Given the description of an element on the screen output the (x, y) to click on. 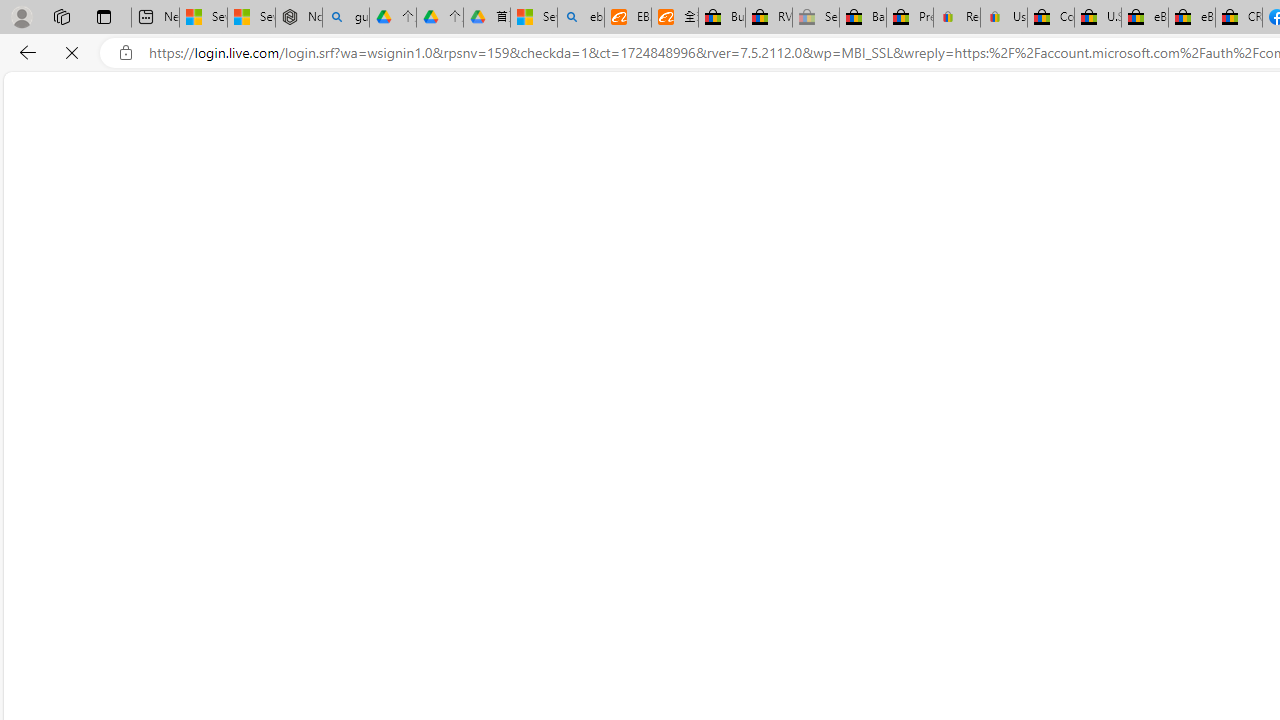
User Privacy Notice | eBay (1003, 17)
U.S. State Privacy Disclosures - eBay Inc. (1098, 17)
guge yunpan - Search (345, 17)
